Given the description of an element on the screen output the (x, y) to click on. 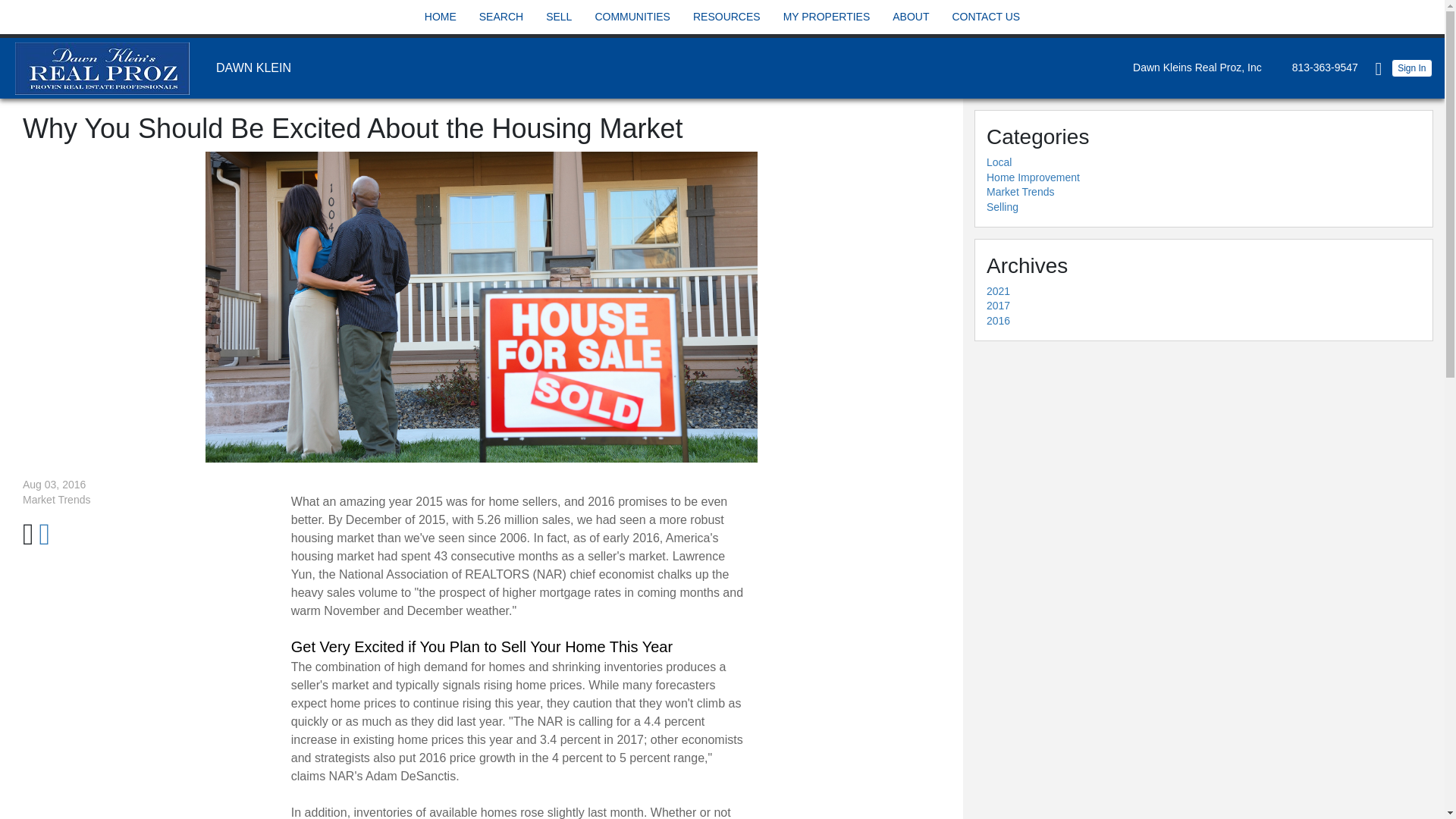
2016 (998, 320)
ABOUT (910, 17)
RESOURCES (726, 17)
MY PROPERTIES (826, 17)
2021 (998, 291)
CONTACT US (985, 17)
COMMUNITIES (632, 17)
Local (999, 162)
Selling (1002, 206)
SEARCH (501, 17)
Sign In (1411, 67)
SELL (558, 17)
Home Improvement (1033, 177)
HOME (440, 17)
2017 (998, 305)
